Given the description of an element on the screen output the (x, y) to click on. 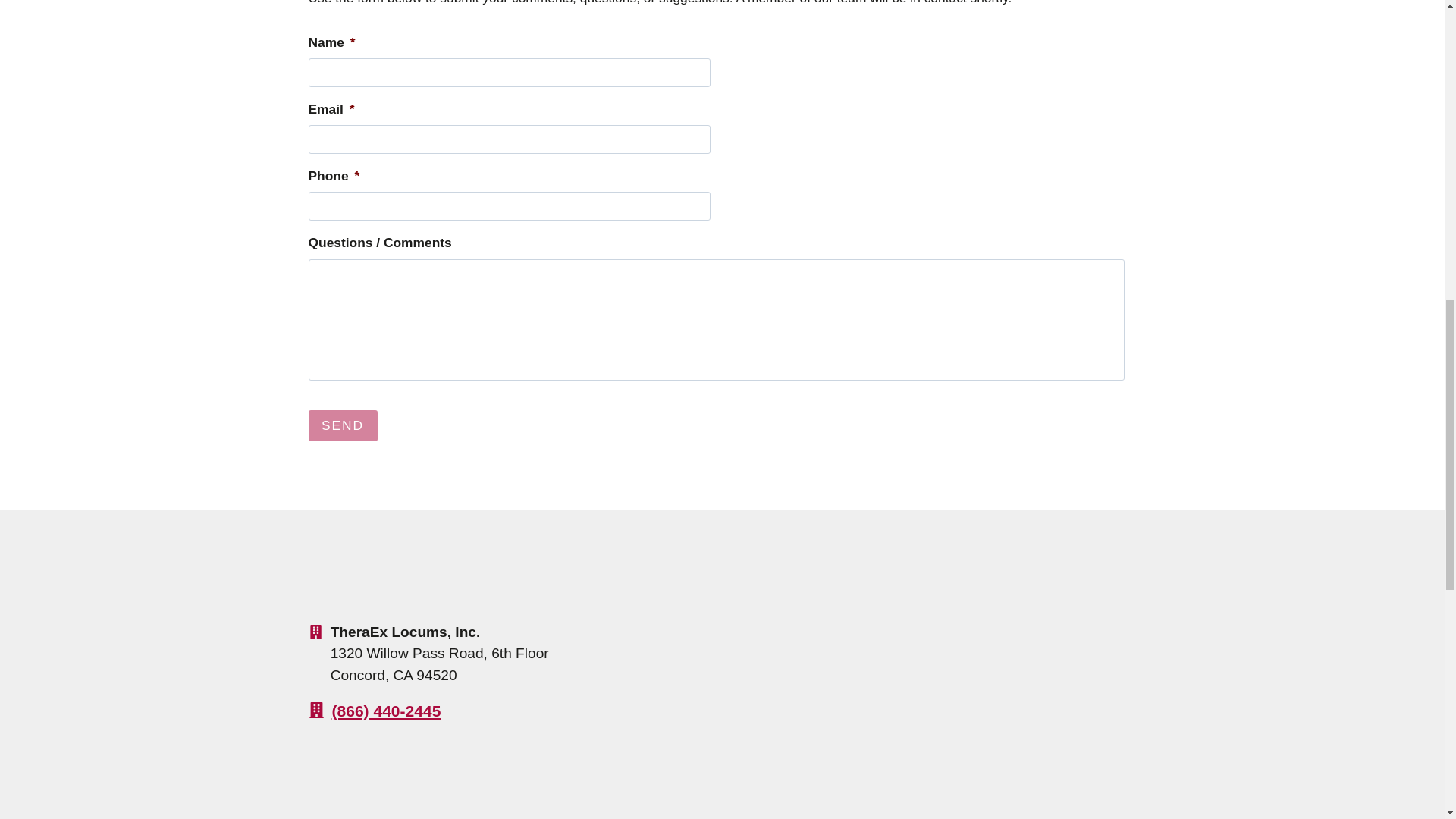
Google map of 1320 Willow Pass Rd, Concord, CA 94520 (875, 671)
Send (342, 426)
Send (342, 426)
